Given the description of an element on the screen output the (x, y) to click on. 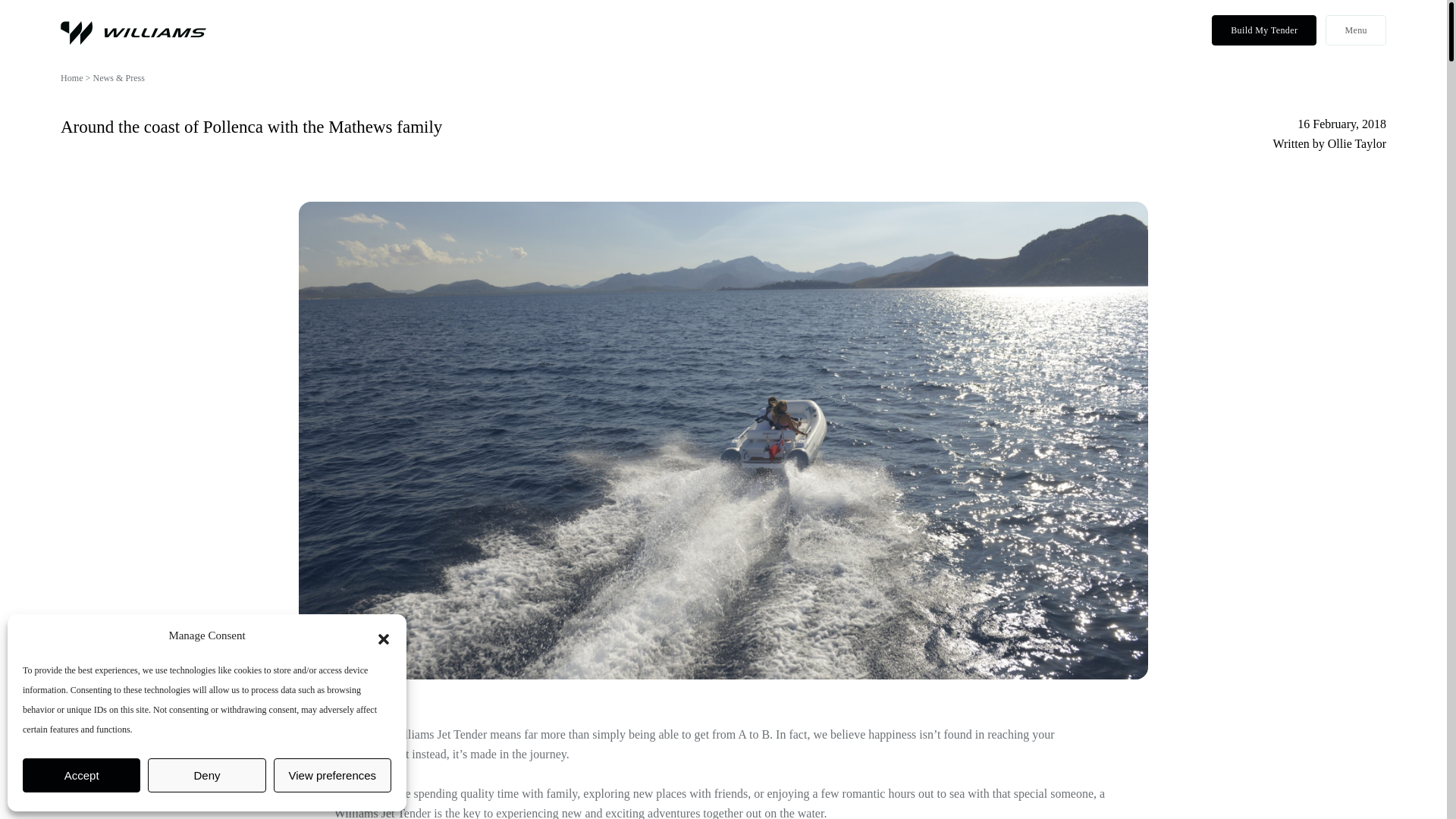
Menu (1355, 30)
Deny (206, 775)
Build My Tender (1263, 30)
Accept (81, 775)
View preferences (332, 775)
